Given the description of an element on the screen output the (x, y) to click on. 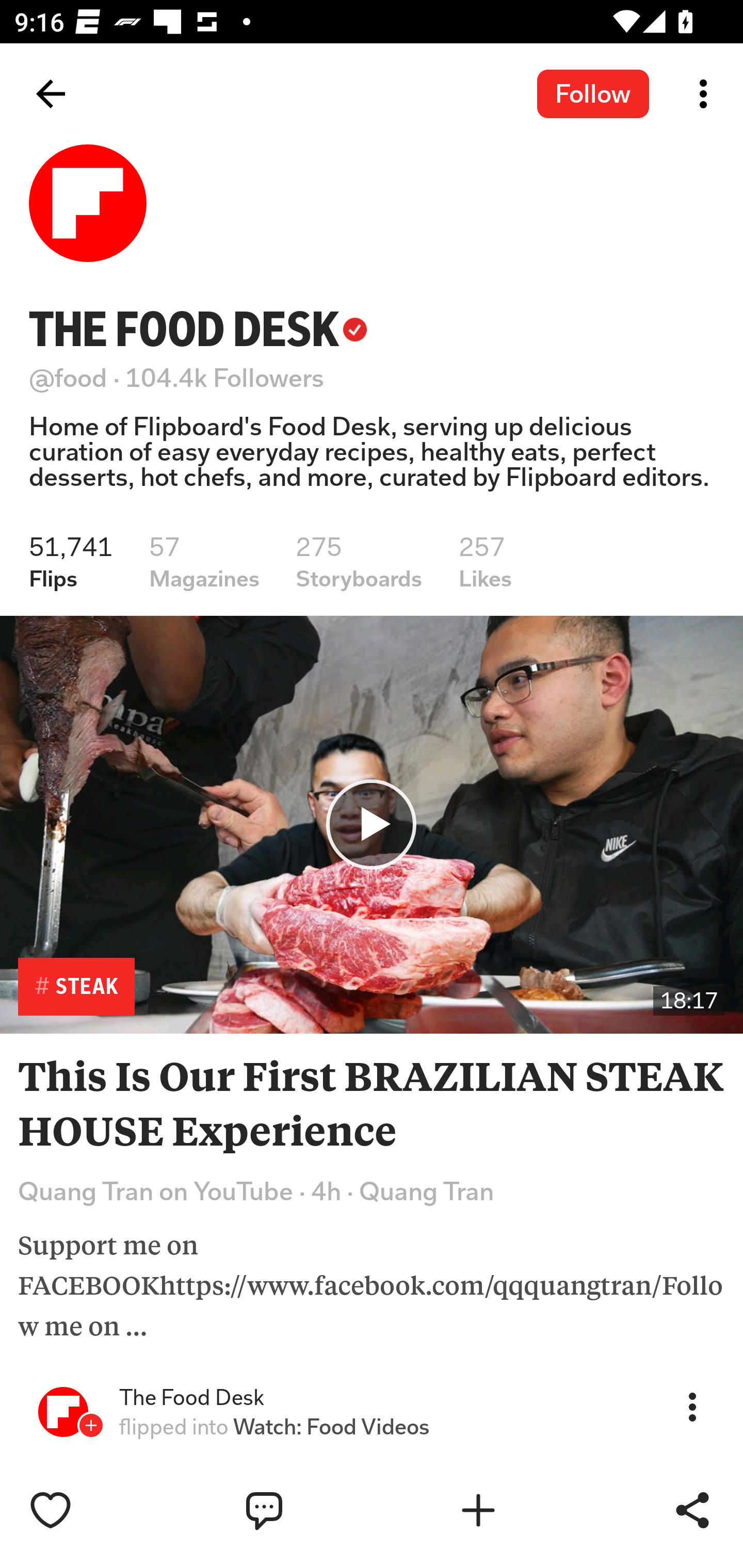
Back (50, 93)
More options (706, 93)
Follow (593, 92)
THE FOOD DESK (197, 328)
@food (67, 377)
104.4k Followers (224, 377)
51,741 Flips (70, 562)
57 Magazines (203, 562)
275 Storyboards (358, 562)
257 Likes (485, 562)
# STEAK (75, 987)
More (692, 1406)
The Food Desk (191, 1397)
flipped into Watch: Food Videos (273, 1426)
Like (93, 1509)
Write a comment… (307, 1509)
Flip into Magazine (521, 1509)
Share (692, 1509)
